Given the description of an element on the screen output the (x, y) to click on. 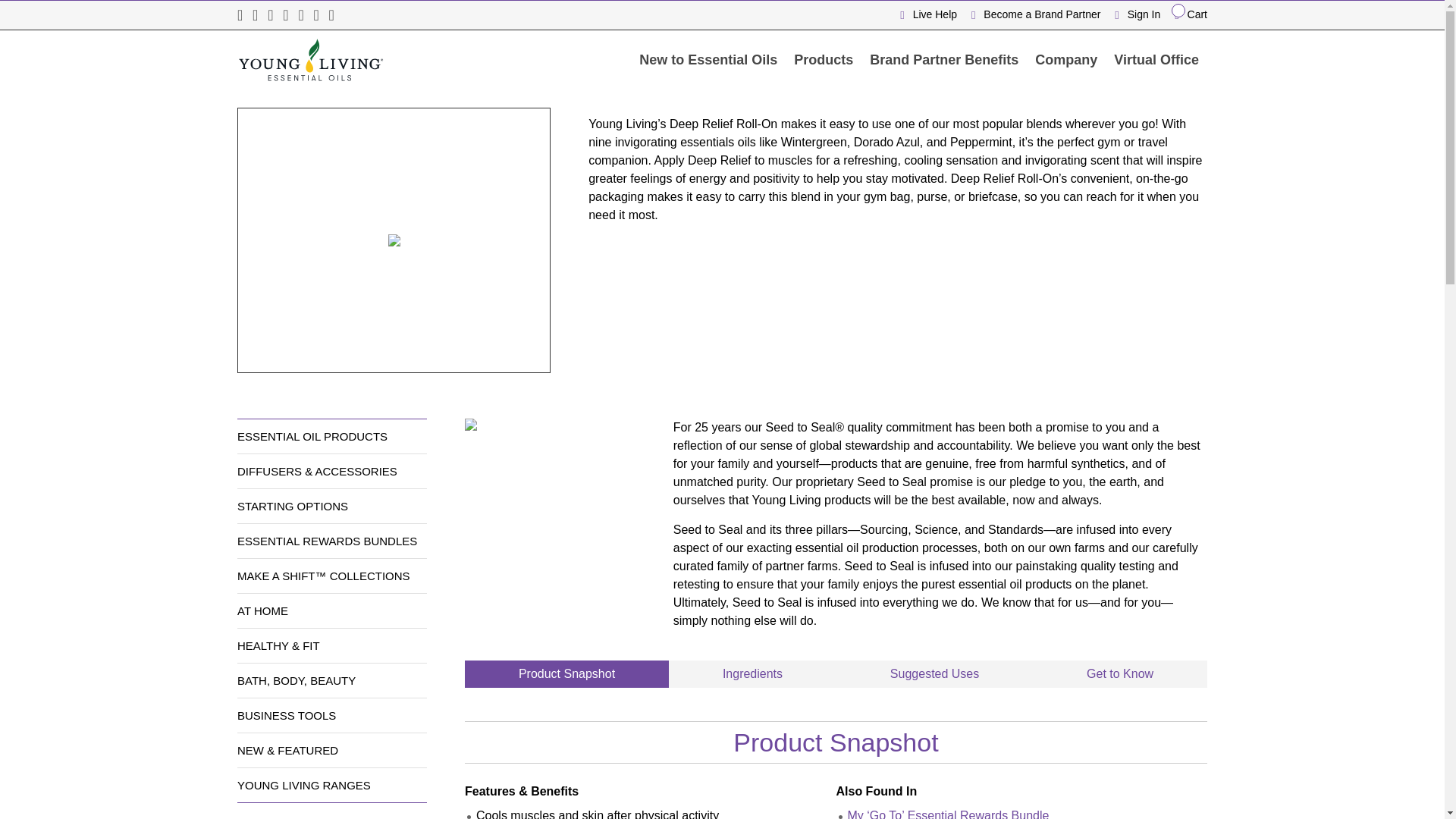
New to Essential Oils (708, 59)
Products (823, 59)
Cart (1185, 14)
Become a Brand Partner (1031, 14)
Sign In (1133, 14)
Live Help (929, 14)
